Given the description of an element on the screen output the (x, y) to click on. 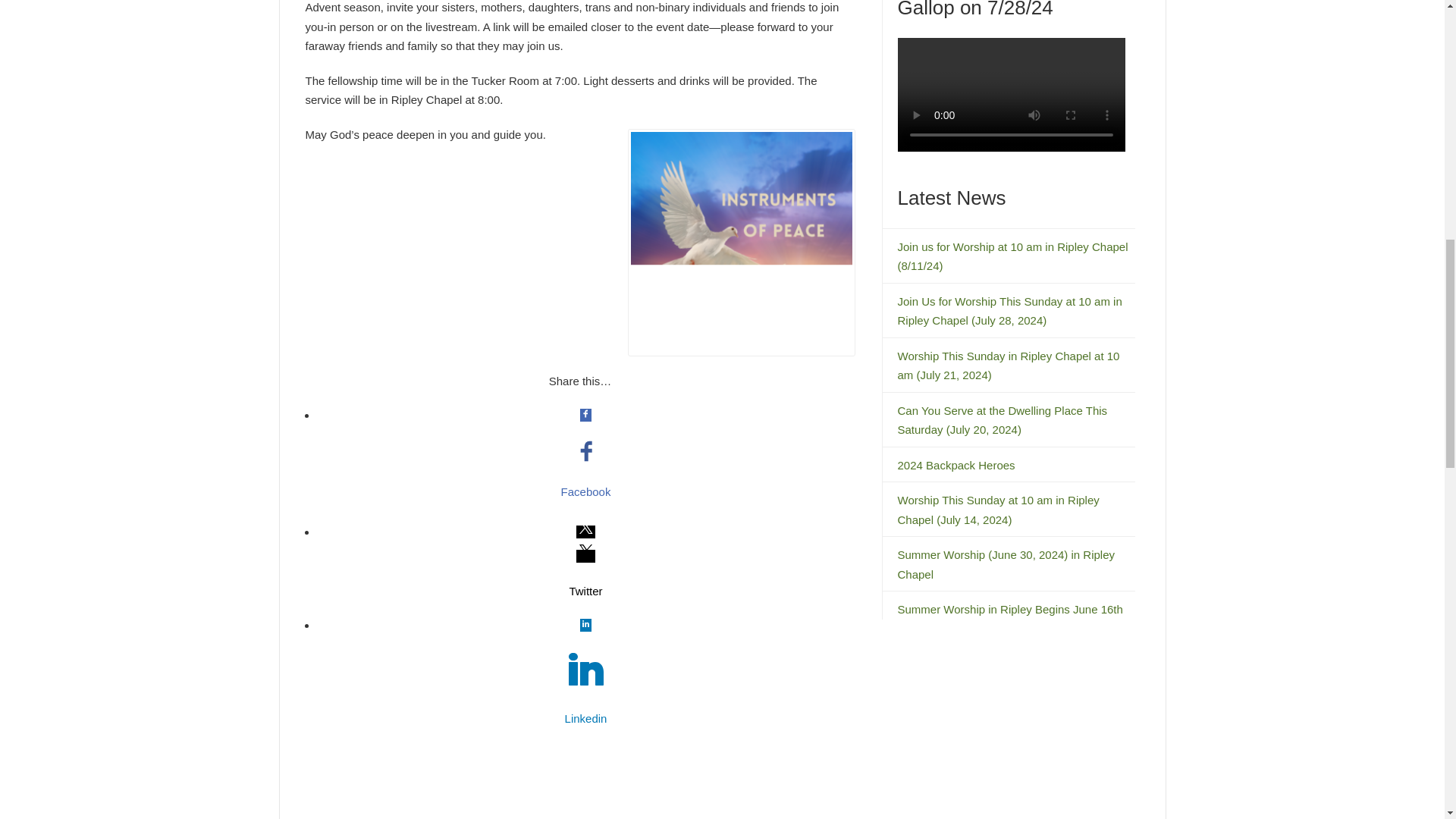
Twitter (586, 591)
Linkedin (586, 718)
Facebook (586, 492)
